Given the description of an element on the screen output the (x, y) to click on. 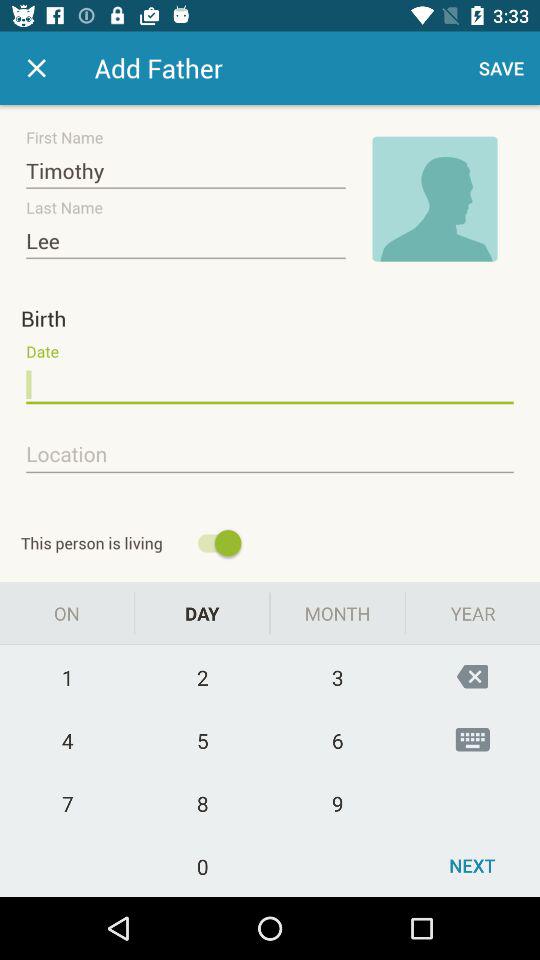
enter location (270, 455)
